Given the description of an element on the screen output the (x, y) to click on. 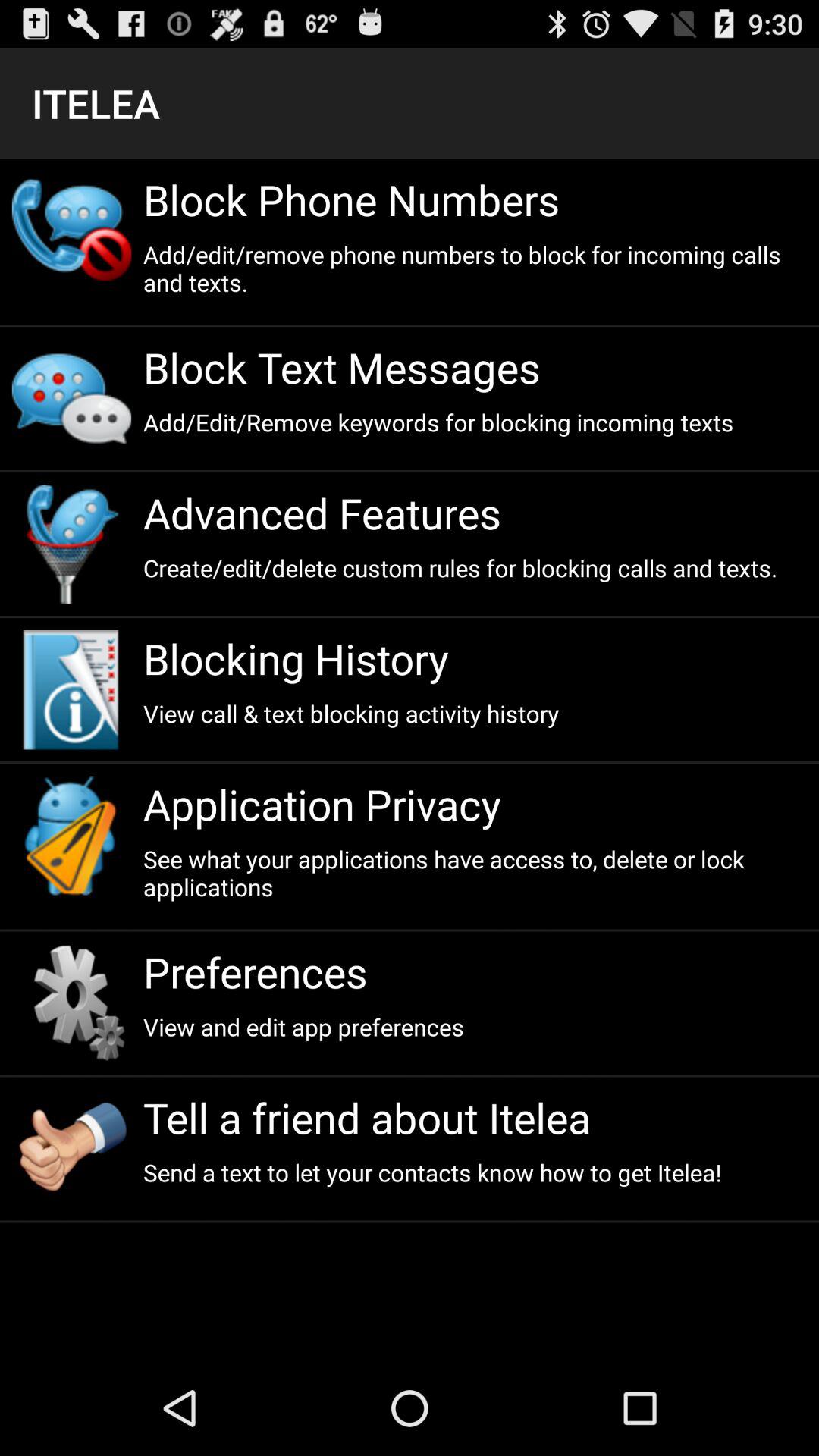
jump to the tell a friend item (475, 1117)
